Given the description of an element on the screen output the (x, y) to click on. 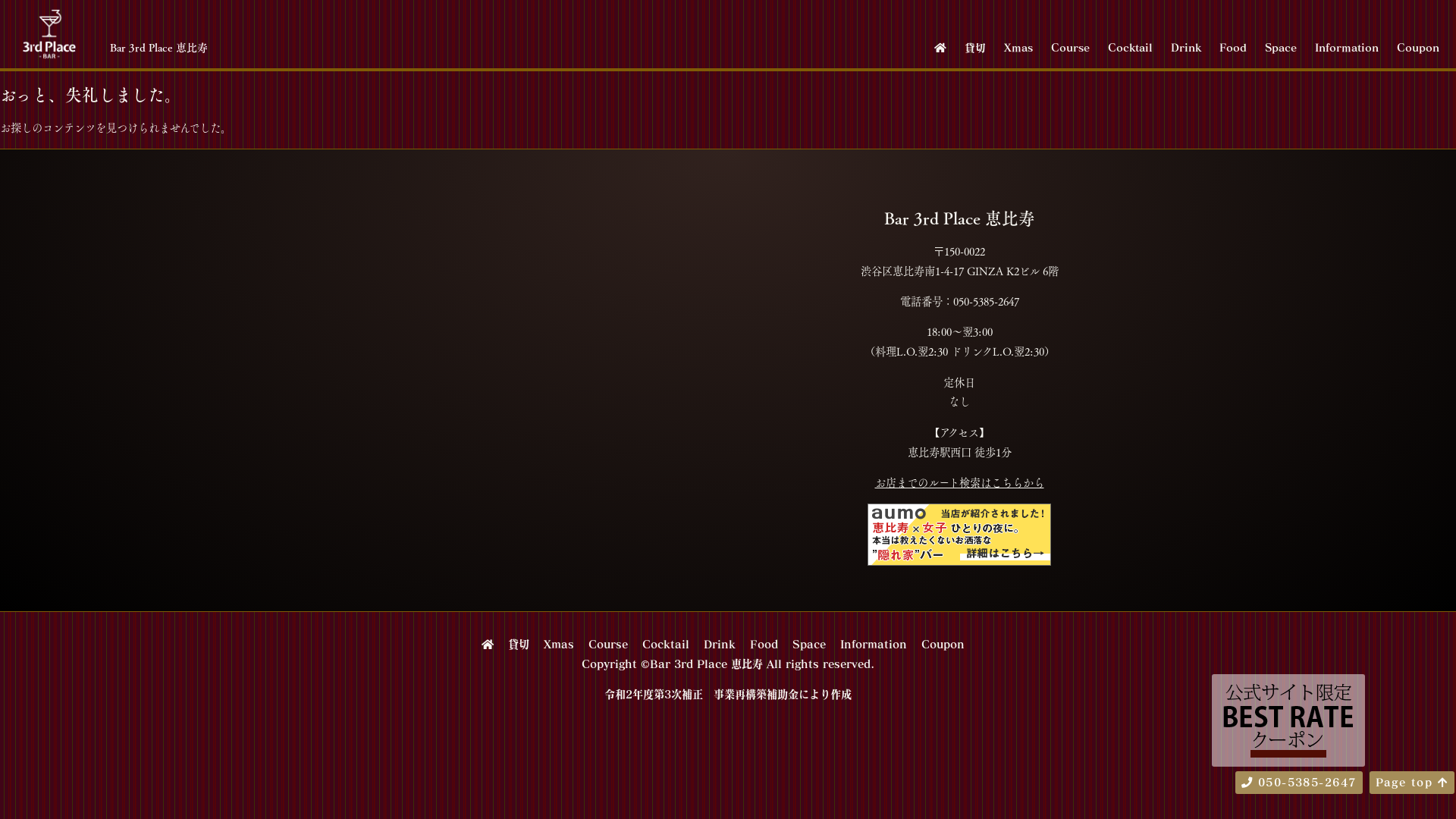
Space Element type: text (808, 643)
Drink Element type: text (719, 643)
Page top Element type: text (1411, 782)
Coupon Element type: text (941, 643)
Course Element type: text (1070, 46)
Information Element type: text (1346, 46)
Food Element type: text (763, 643)
Xmas Element type: text (557, 643)
Drink Element type: text (1185, 46)
Food Element type: text (1232, 46)
Information Element type: text (873, 643)
Space Element type: text (1280, 46)
Cocktail Element type: text (664, 643)
Xmas Element type: text (1018, 46)
Coupon Element type: text (1417, 46)
Course Element type: text (607, 643)
Cocktail Element type: text (1129, 46)
